Given the description of an element on the screen output the (x, y) to click on. 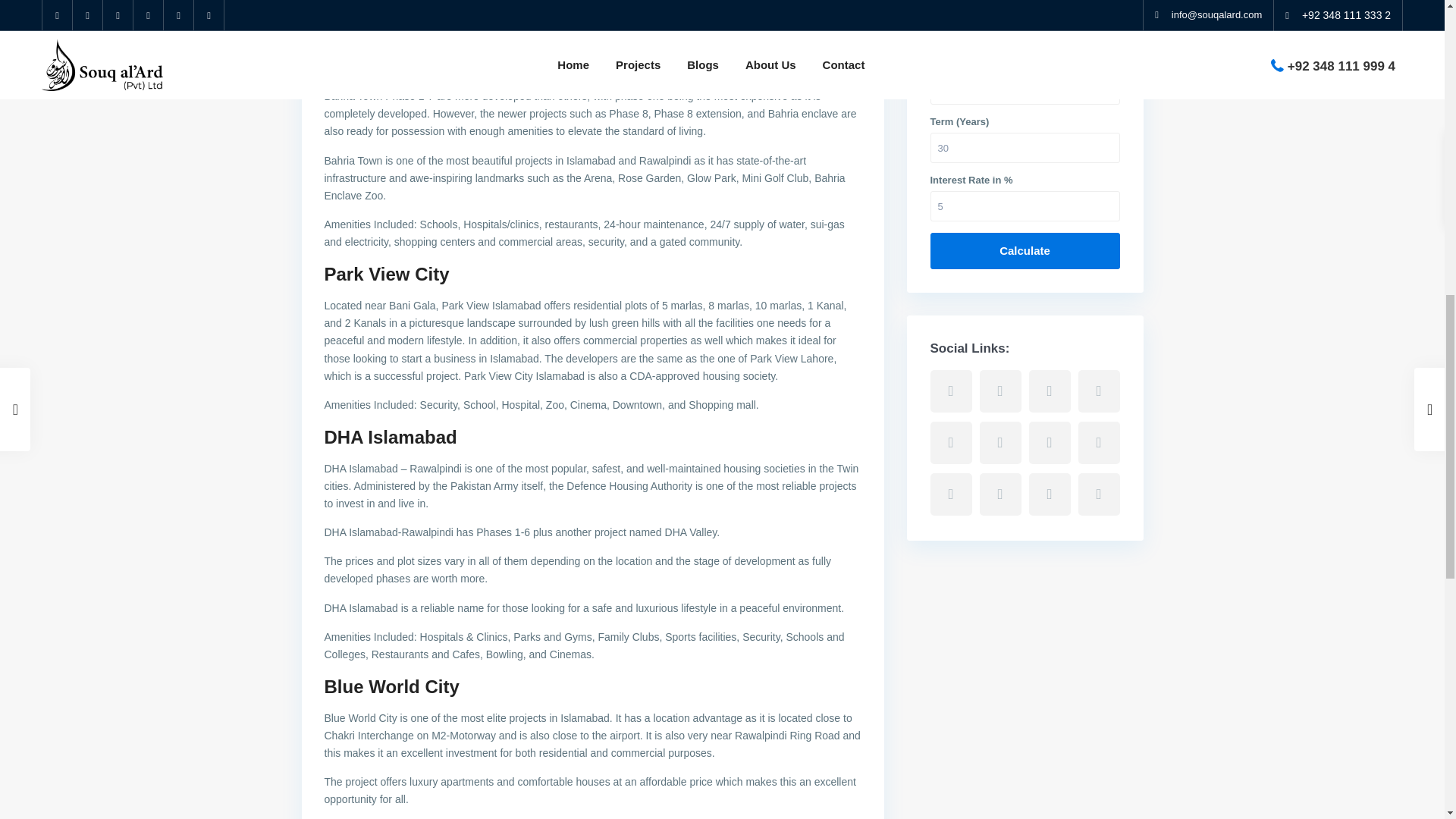
5 (1024, 205)
30 (1024, 147)
100000 (1024, 30)
10 (1024, 89)
